Given the description of an element on the screen output the (x, y) to click on. 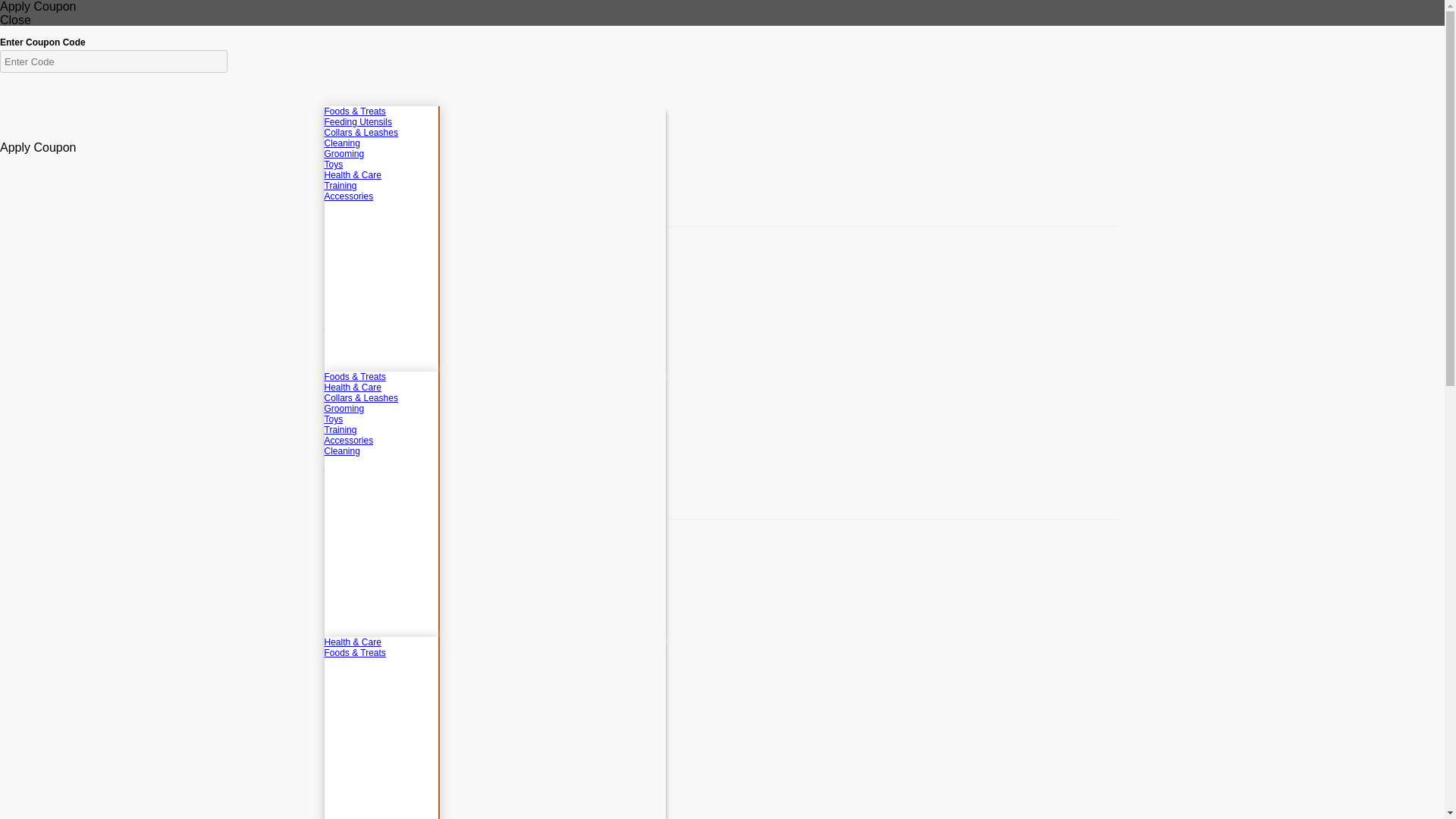
Forgot Your Password? (386, 323)
Submit (406, 609)
Register (346, 463)
Submit (406, 308)
Feeding Utensils (381, 122)
Cleaning (381, 143)
Grooming (381, 153)
Submit (406, 609)
Accessories (381, 195)
Toys (381, 163)
Training (381, 185)
Submit (406, 308)
